Given the description of an element on the screen output the (x, y) to click on. 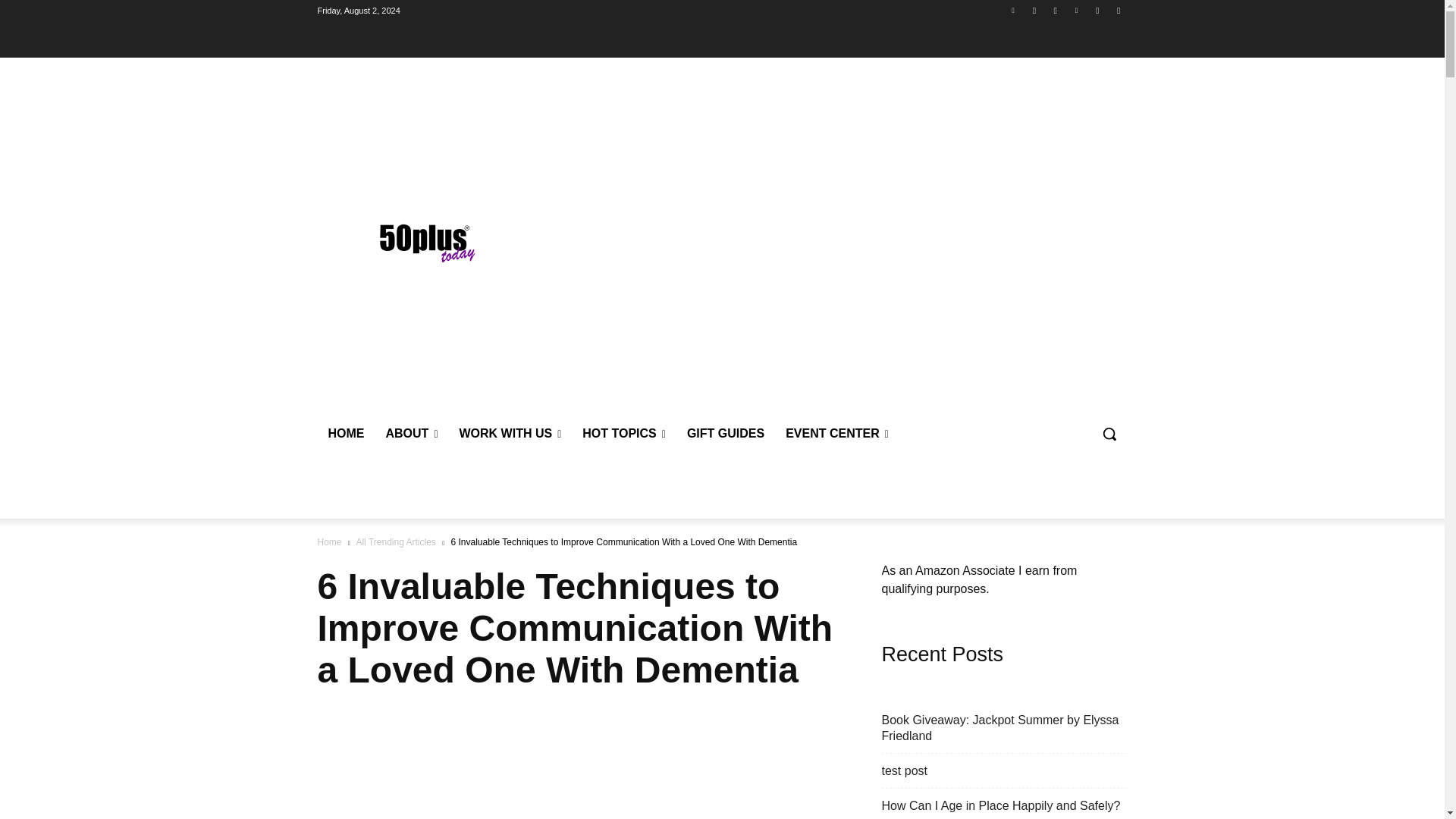
Linkedin (1013, 9)
Youtube (1034, 9)
Pinterest (1075, 9)
Medium (1117, 9)
Instagram (1097, 9)
Facebook (1055, 9)
View all posts in All Trending Articles (395, 542)
